Given the description of an element on the screen output the (x, y) to click on. 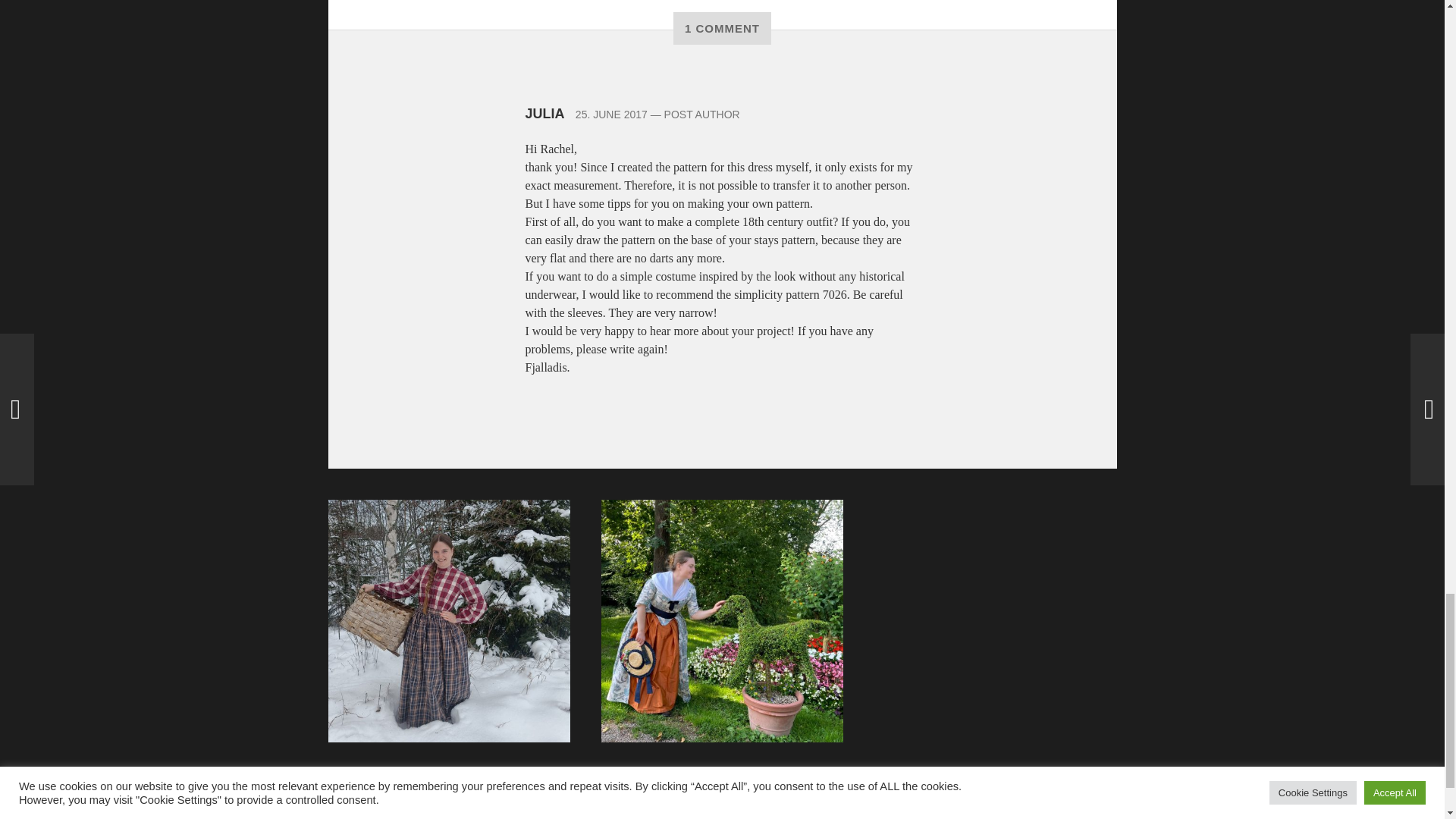
25. JUNE 2017 (611, 114)
